Given the description of an element on the screen output the (x, y) to click on. 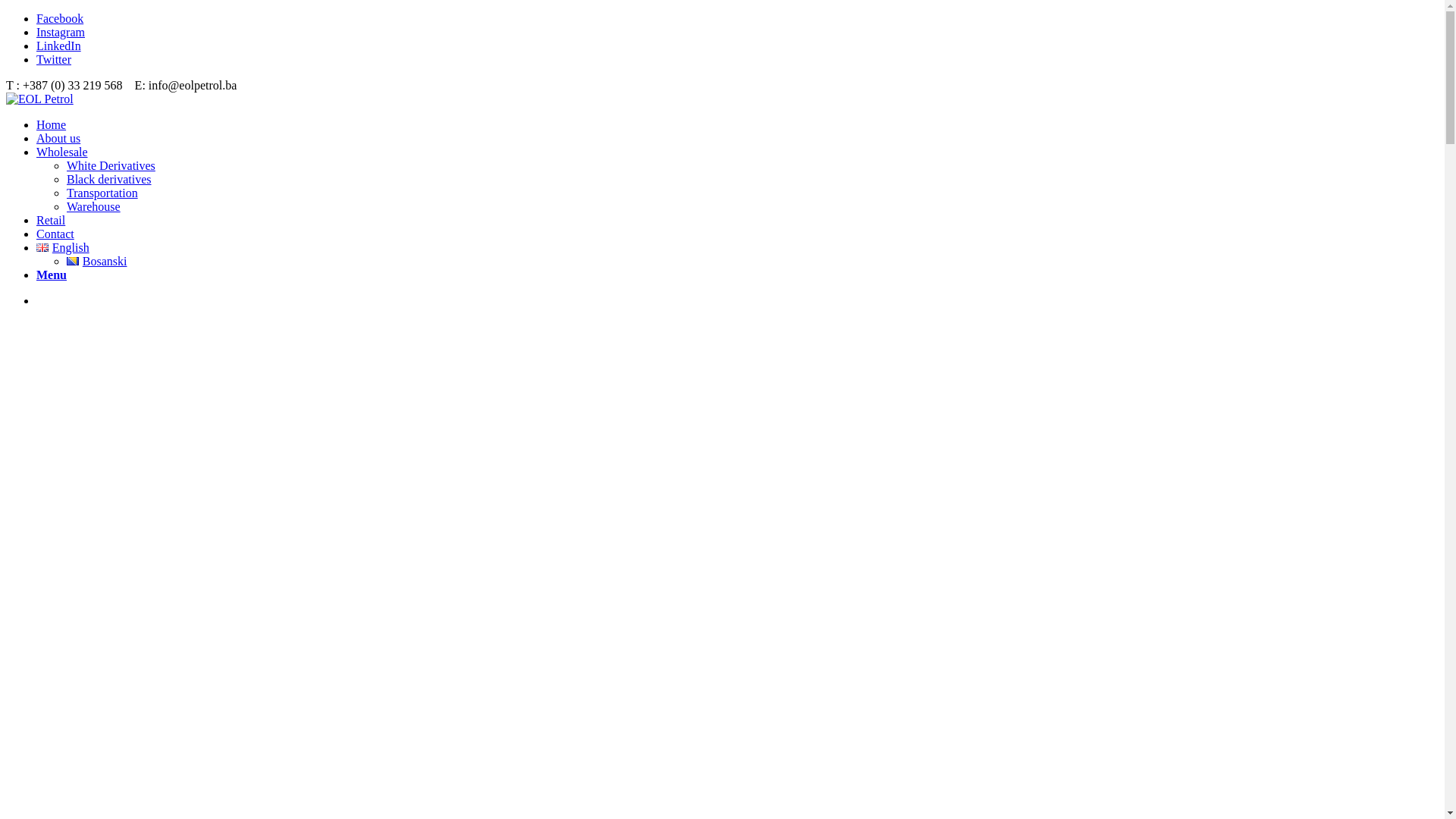
Retail Element type: text (50, 219)
Warehouse Element type: text (93, 206)
Menu Element type: text (51, 274)
Contact Element type: text (55, 233)
Instagram Element type: text (60, 31)
About us Element type: text (58, 137)
Twitter Element type: text (53, 59)
English Element type: text (62, 247)
Wholesale Element type: text (61, 151)
Black derivatives Element type: text (108, 178)
White Derivatives Element type: text (110, 165)
Facebook Element type: text (59, 18)
Transportation Element type: text (102, 192)
Bosanski Element type: text (96, 260)
LinkedIn Element type: text (58, 45)
Home Element type: text (50, 124)
